Given the description of an element on the screen output the (x, y) to click on. 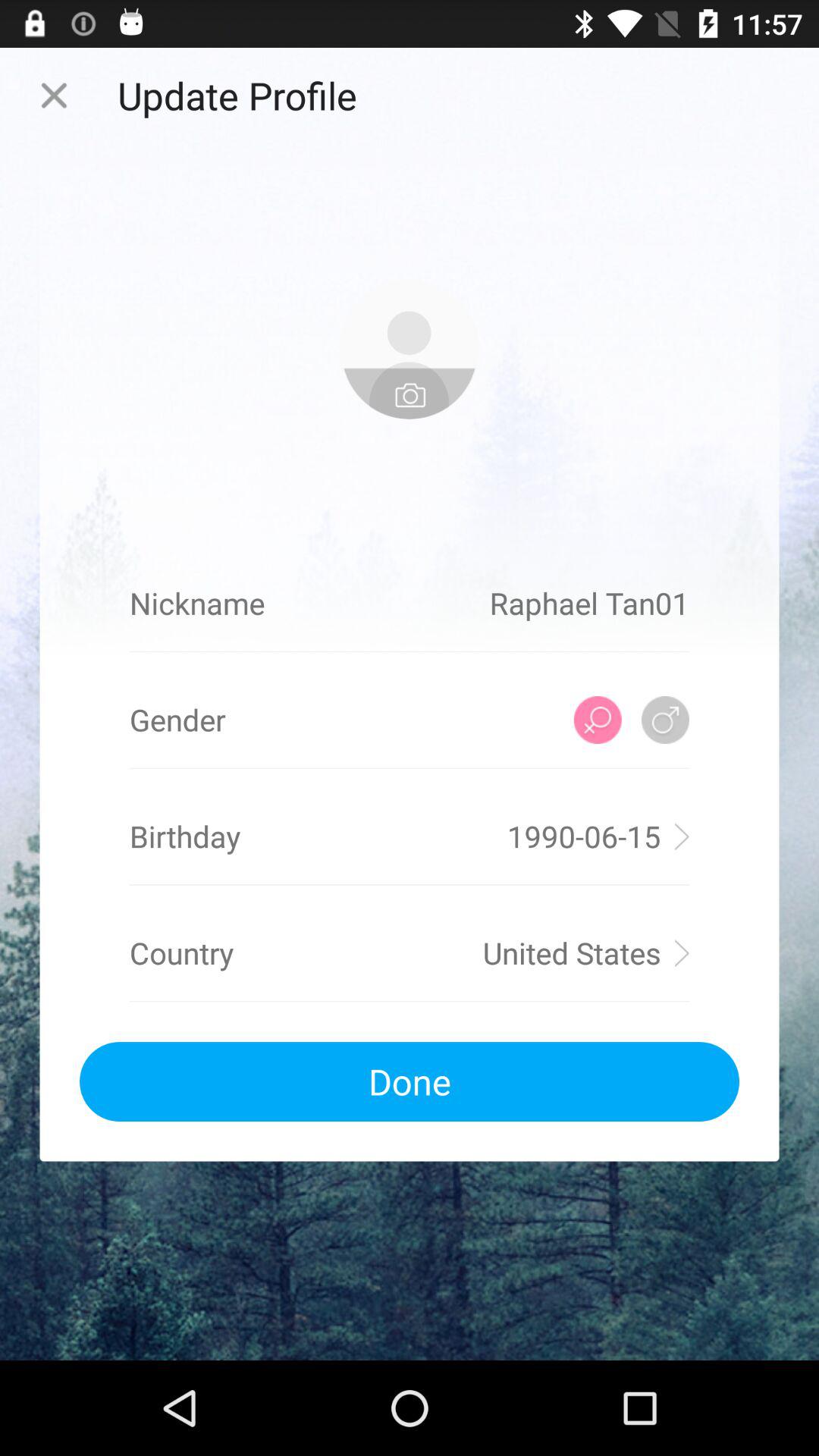
male gender (665, 719)
